Given the description of an element on the screen output the (x, y) to click on. 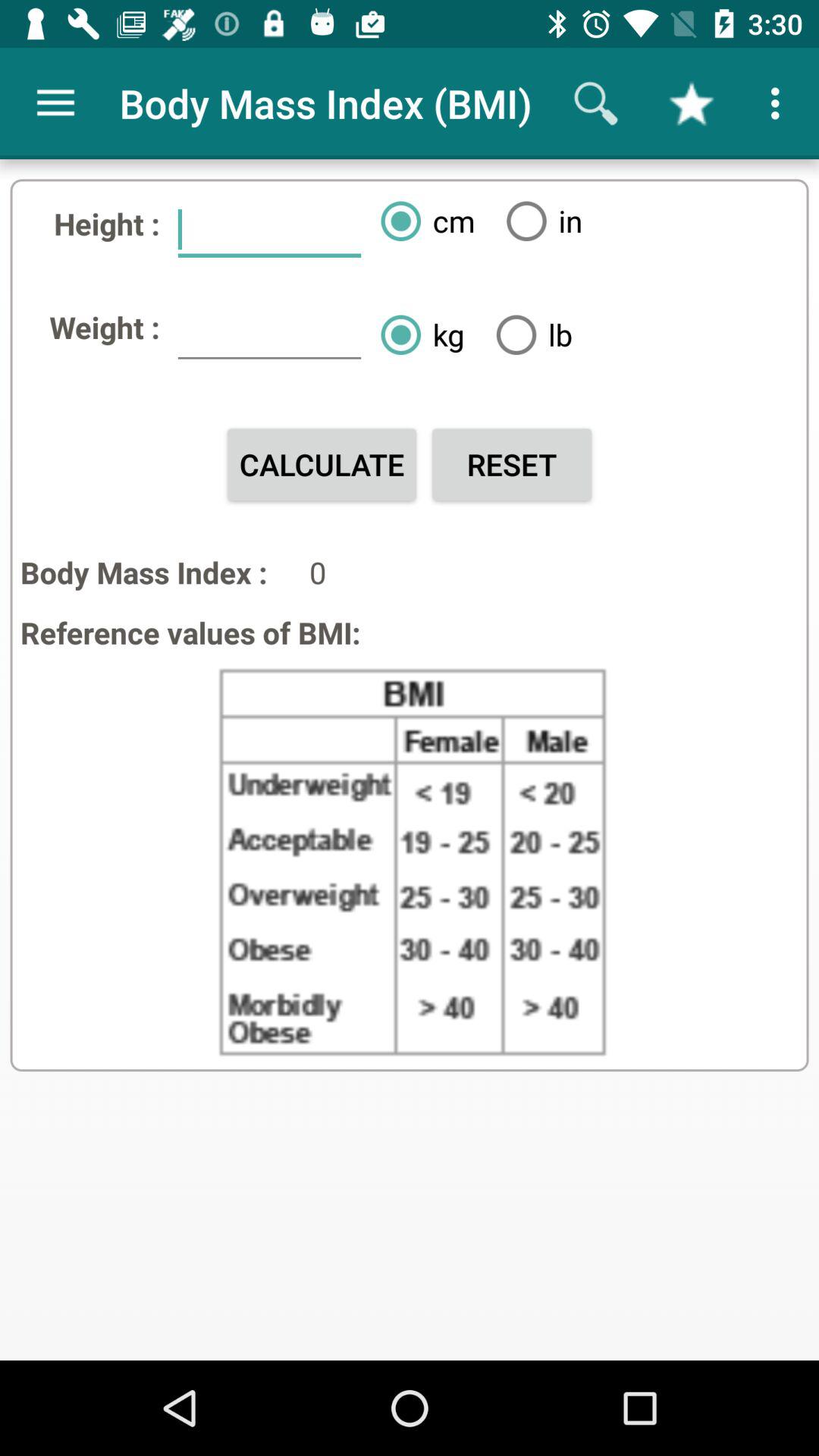
turn off icon above the lb (538, 221)
